Given the description of an element on the screen output the (x, y) to click on. 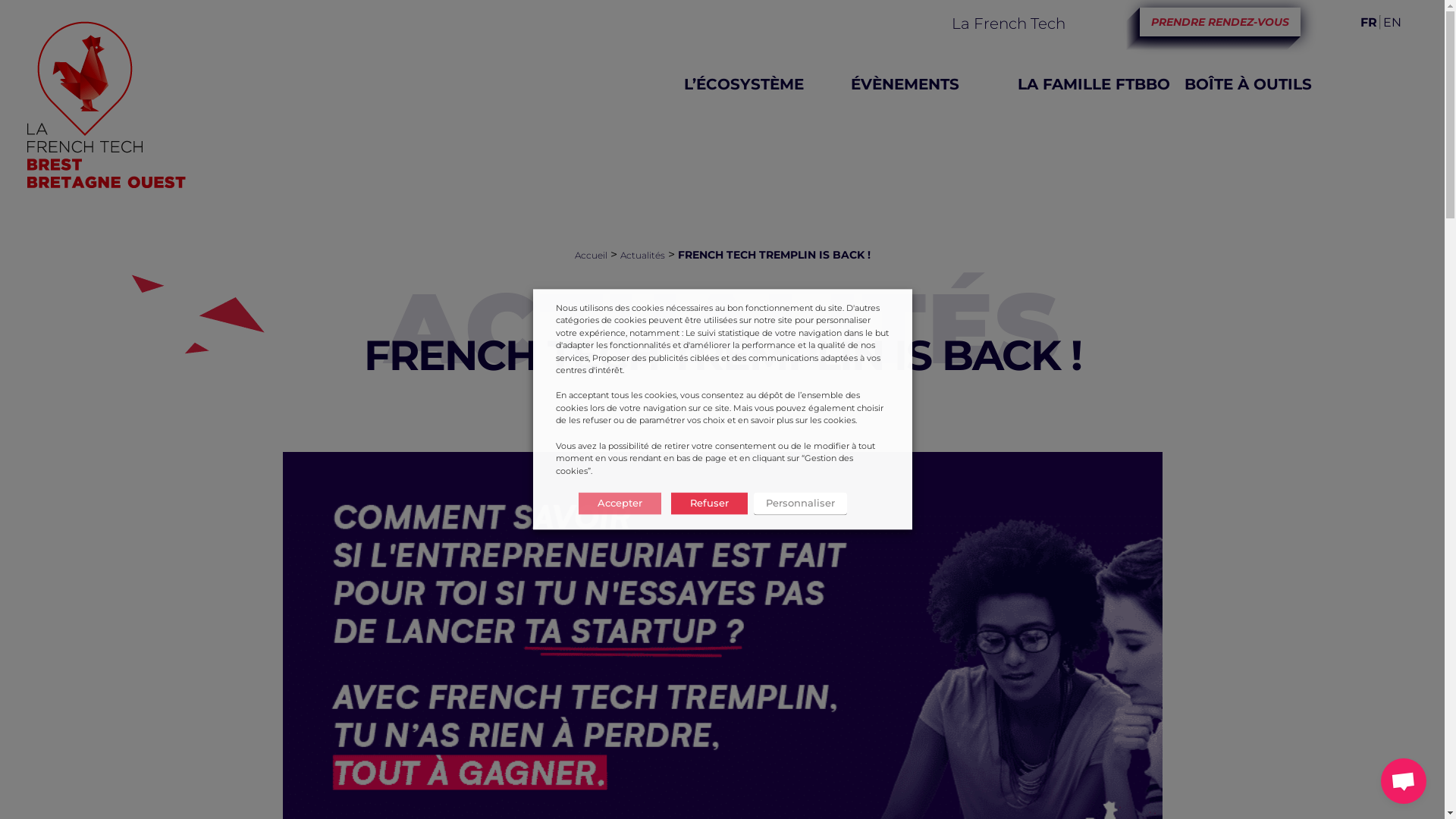
Personnaliser Element type: text (800, 503)
Refuser Element type: text (708, 503)
EN Element type: text (1392, 22)
FR Element type: text (1368, 22)
PRENDRE RENDEZ-VOUS Element type: text (1219, 21)
LA FAMILLE FTBBO Element type: text (1090, 84)
La French Tech Element type: text (1008, 23)
Accepter Element type: text (618, 503)
Accueil Element type: text (590, 254)
